Given the description of an element on the screen output the (x, y) to click on. 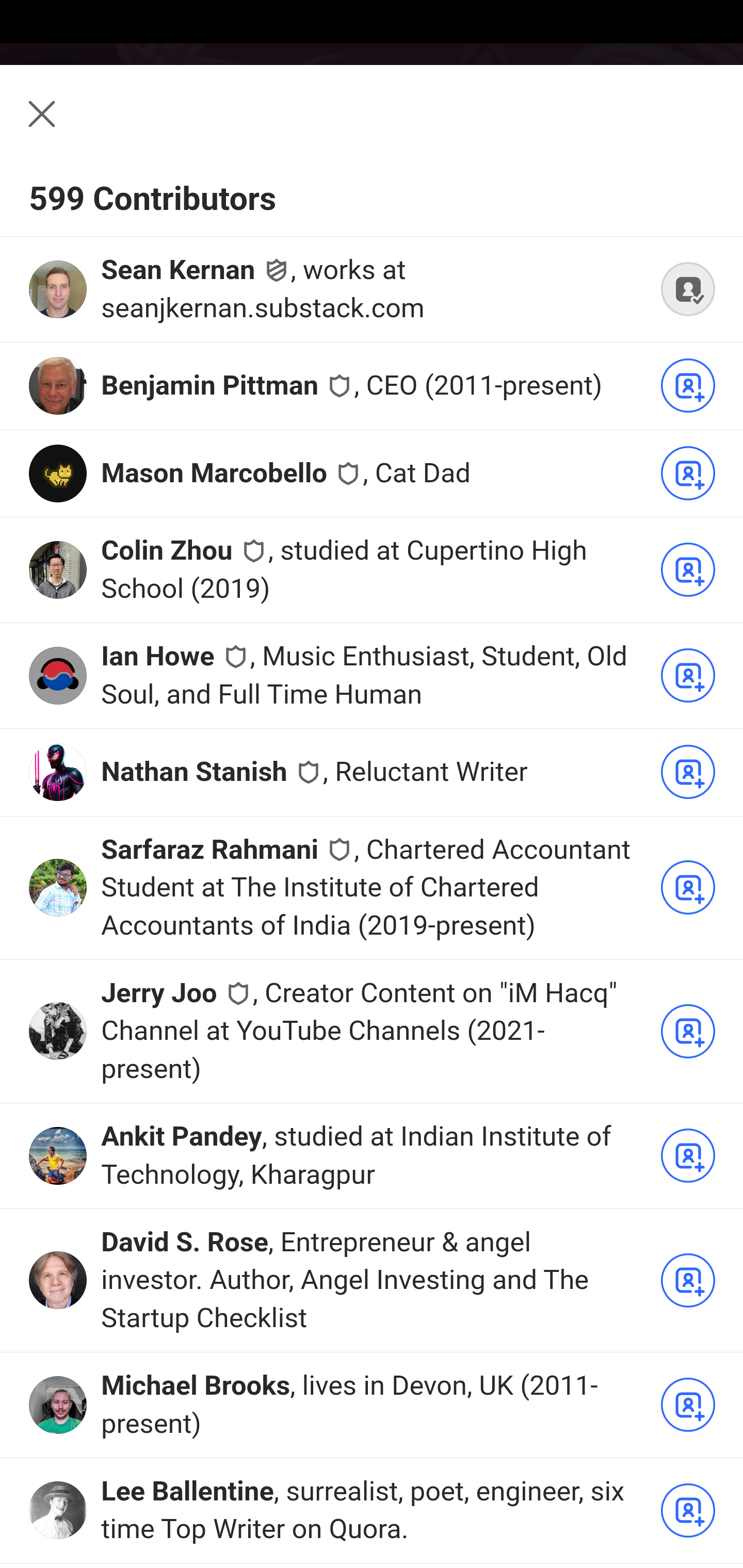
Follow (623, 296)
Profile photo for Richard Holl (57, 1502)
